Given the description of an element on the screen output the (x, y) to click on. 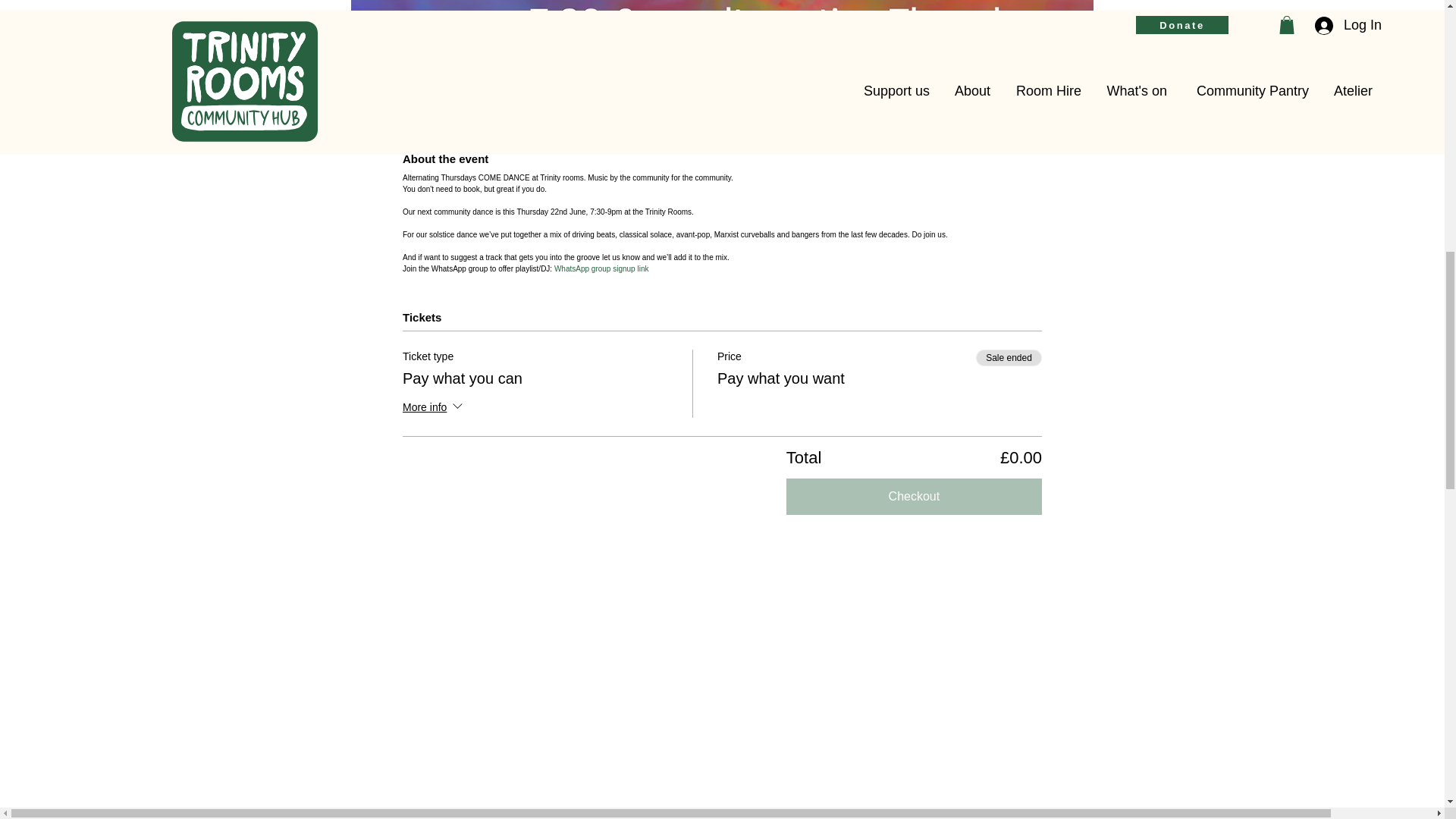
More info (434, 408)
WhatsApp group signup link (601, 268)
Checkout (914, 496)
